Given the description of an element on the screen output the (x, y) to click on. 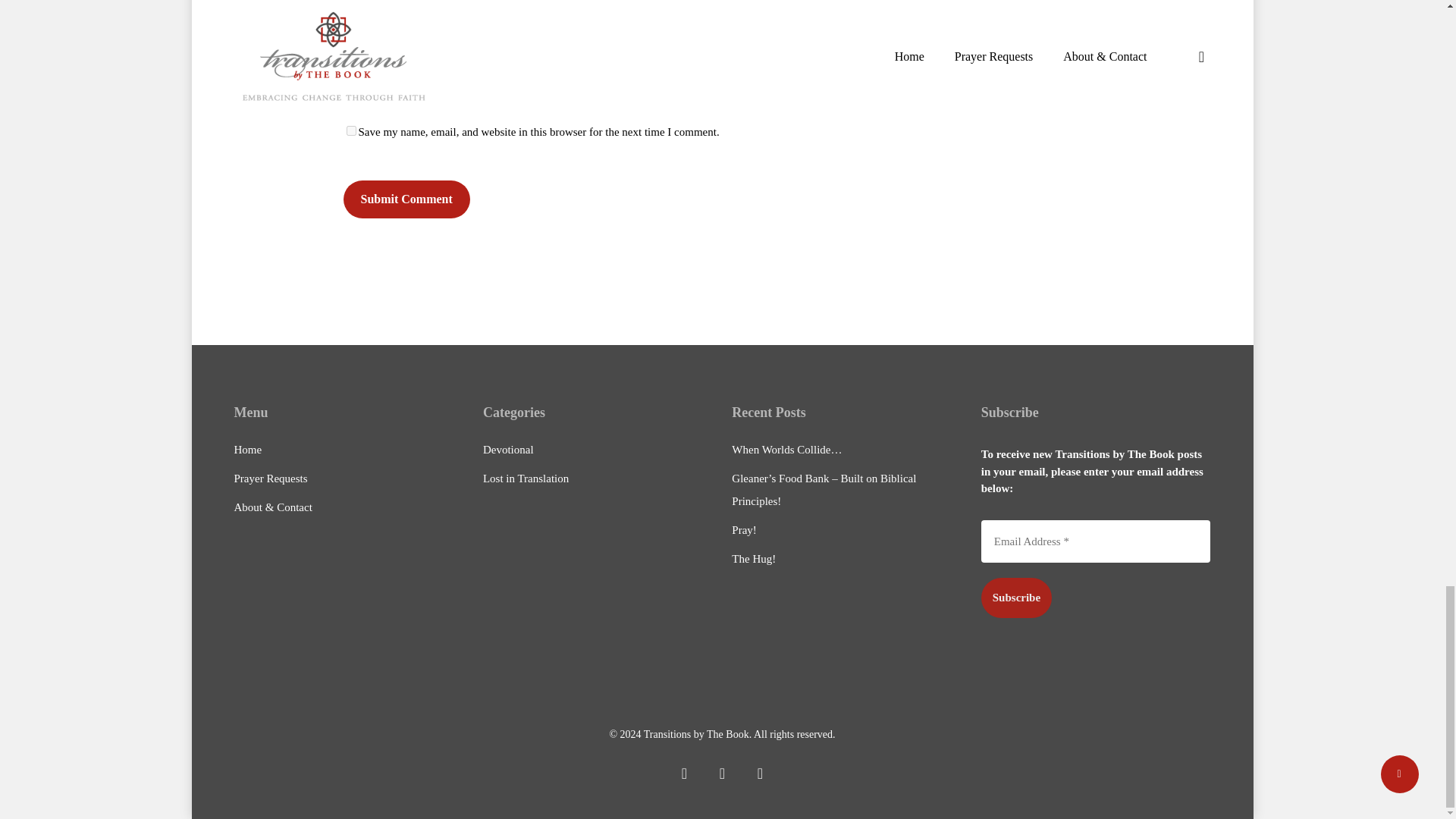
Submit Comment (405, 199)
Subscribe (1016, 598)
yes (350, 130)
Submit Comment (405, 199)
Email Address (1096, 541)
